Given the description of an element on the screen output the (x, y) to click on. 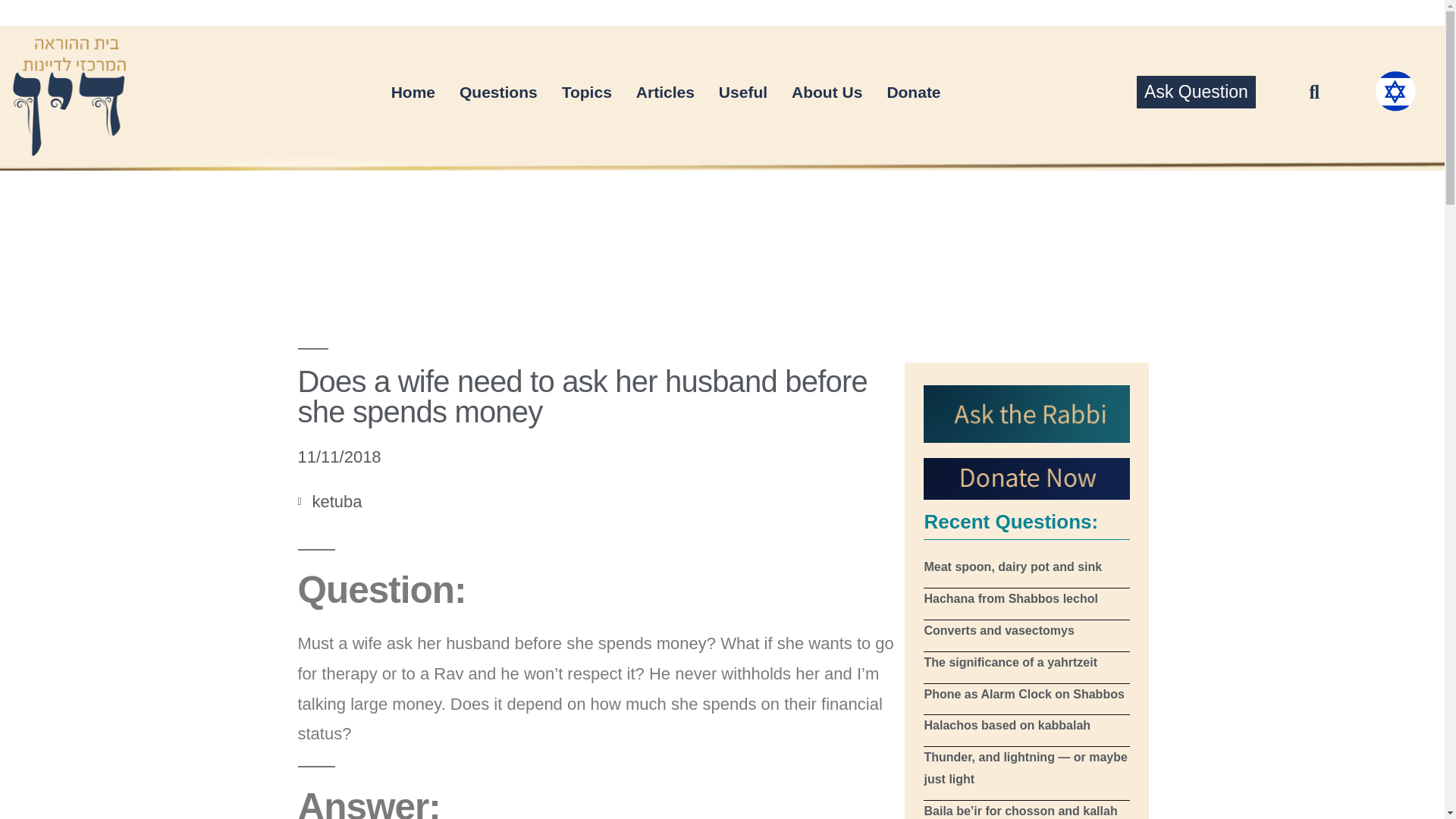
Home (412, 92)
Ask Question (1196, 92)
Useful (742, 92)
About Us (826, 92)
ketuba (337, 501)
Donate (913, 92)
Topics (587, 92)
Articles (665, 92)
Questions (498, 92)
